Given the description of an element on the screen output the (x, y) to click on. 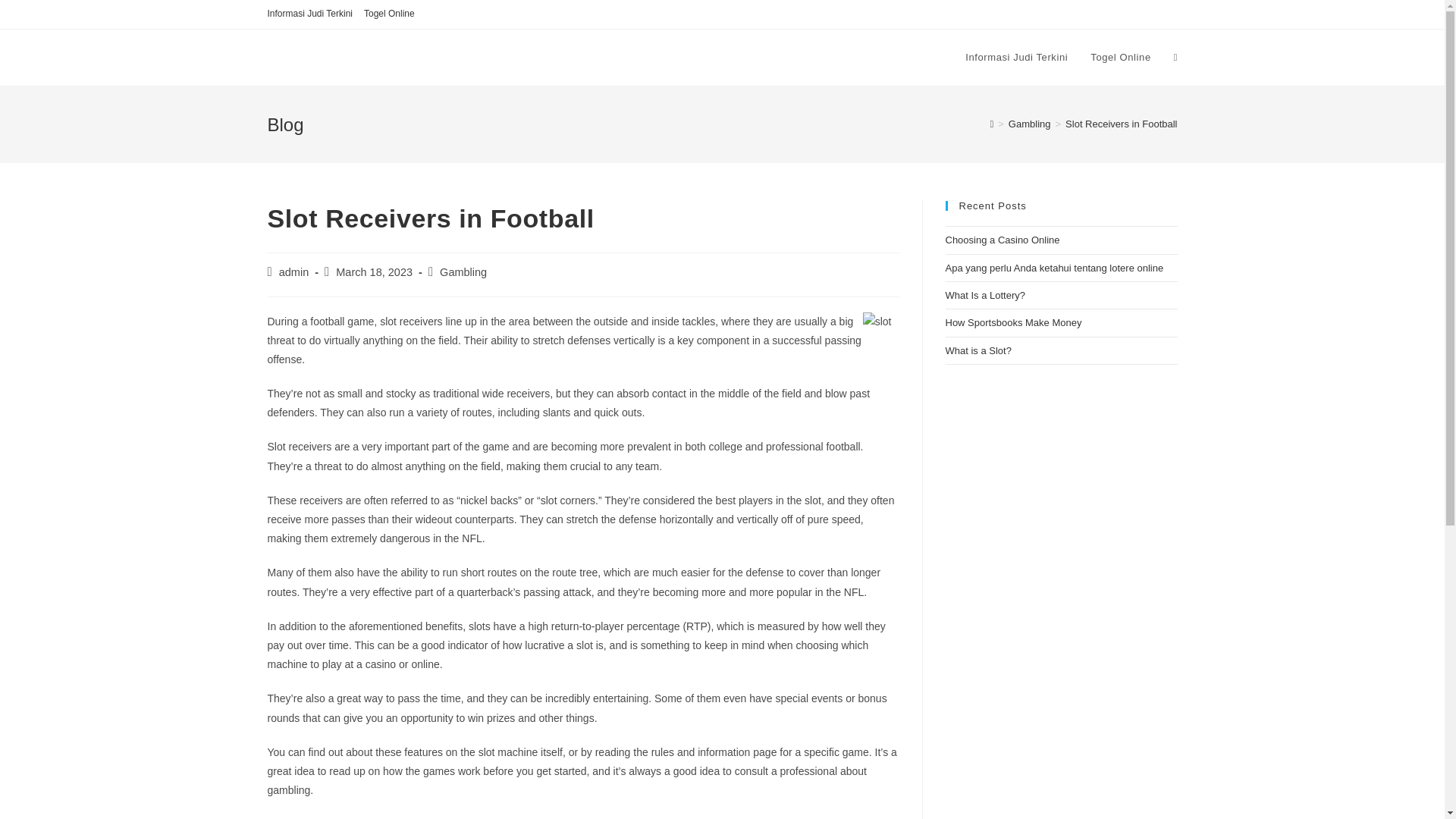
Posts by admin (293, 272)
Togel Online (389, 13)
Choosing a Casino Online (1001, 239)
Gambling (462, 272)
Toggle website search (1175, 57)
Togel Online (1119, 57)
What is a Slot? (977, 350)
Apa yang perlu Anda ketahui tentang lotere online (1053, 267)
Slot Receivers in Football (1120, 123)
admin (293, 272)
What Is a Lottery? (984, 295)
How Sportsbooks Make Money (1012, 322)
Informasi Judi Terkini (1015, 57)
Informasi Judi Terkini (309, 13)
Gambling (1030, 123)
